Given the description of an element on the screen output the (x, y) to click on. 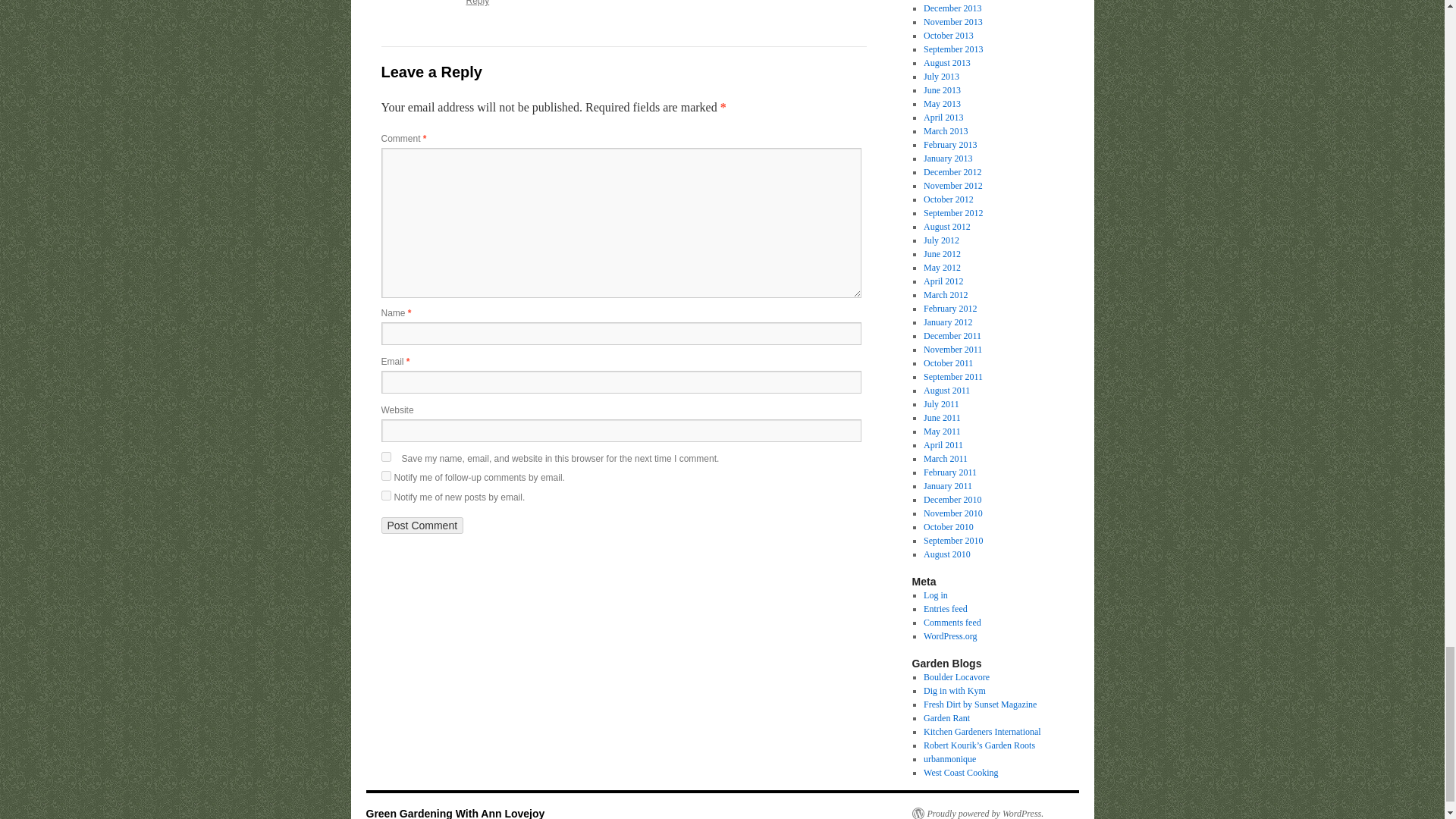
subscribe (385, 475)
Post Comment (421, 524)
yes (385, 456)
subscribe (385, 495)
